Given the description of an element on the screen output the (x, y) to click on. 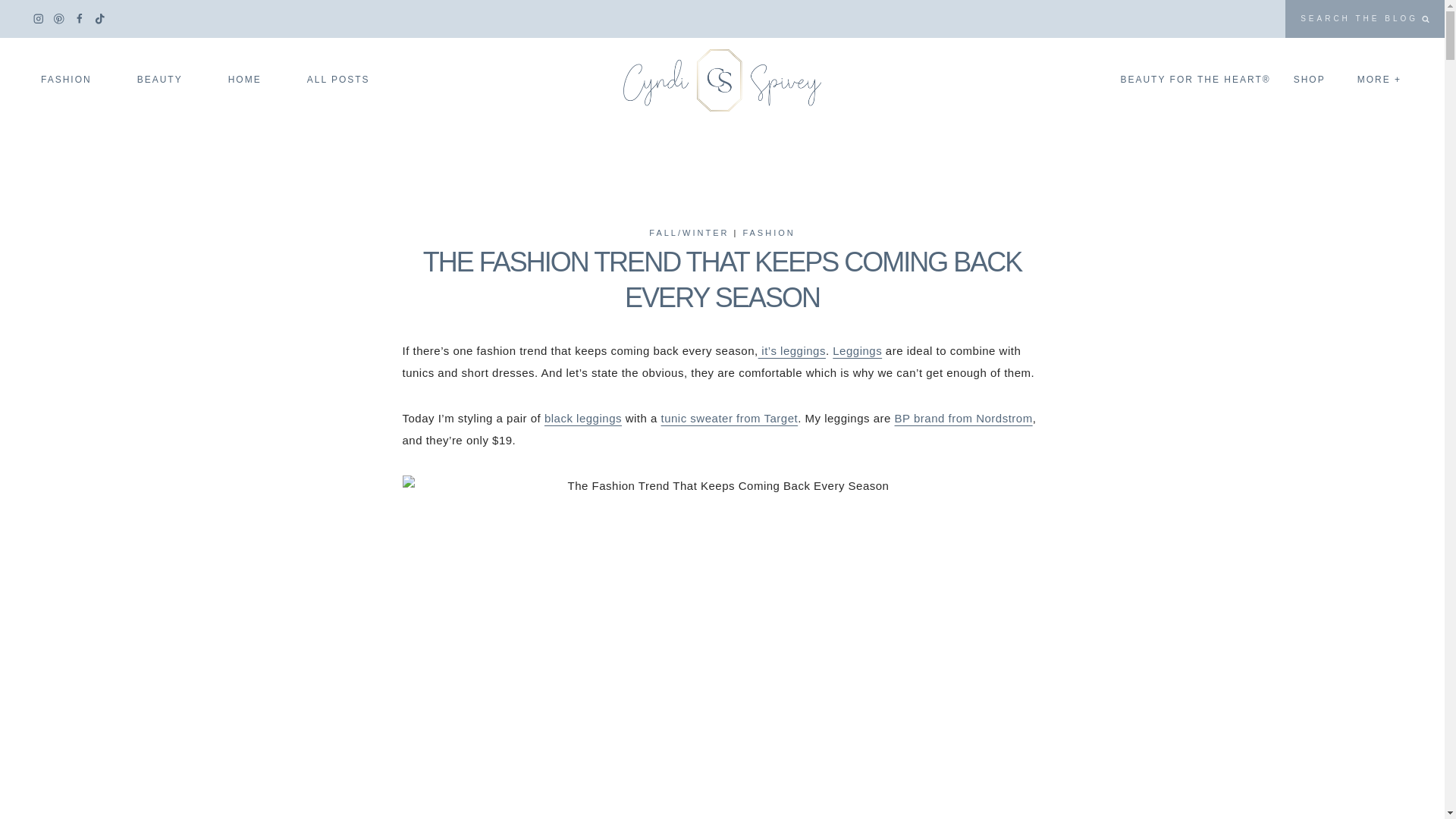
HOME (248, 79)
FASHION (71, 79)
SHOP (1313, 79)
ALL POSTS (338, 79)
BEAUTY (164, 79)
